Given the description of an element on the screen output the (x, y) to click on. 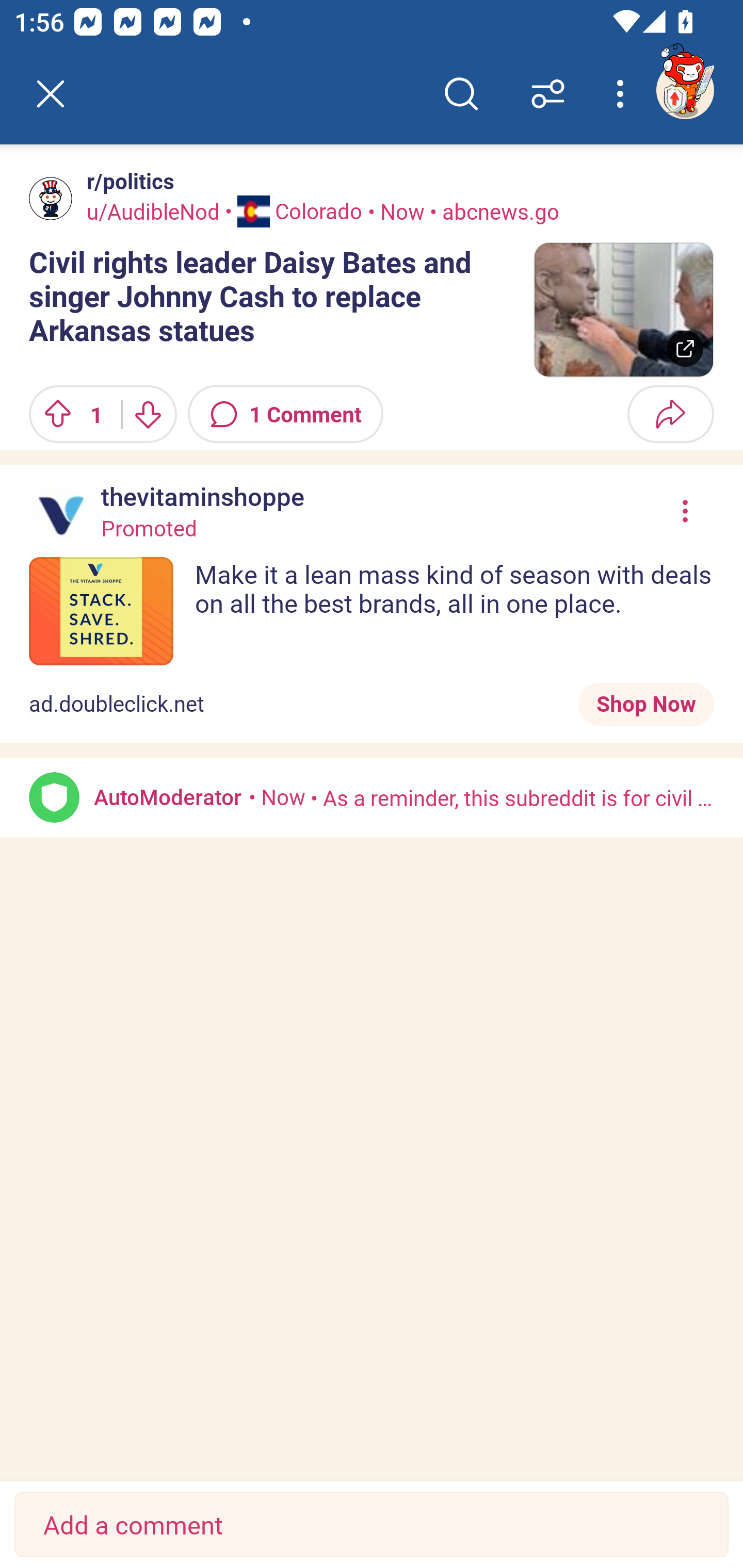
Back (50, 93)
TestAppium002 account (685, 90)
Search comments (460, 93)
Sort comments (547, 93)
More options (623, 93)
r/politics (126, 181)
Avatar (50, 198)
u/AudibleNod (152, 210)
 • abcnews.go (491, 210)
Thumbnail image (623, 309)
Upvote 1 (67, 413)
Downvote (146, 413)
1 Comment (285, 413)
Share (670, 413)
Avatar (53, 797)
• Now (276, 796)
Add a comment (371, 1524)
